Given the description of an element on the screen output the (x, y) to click on. 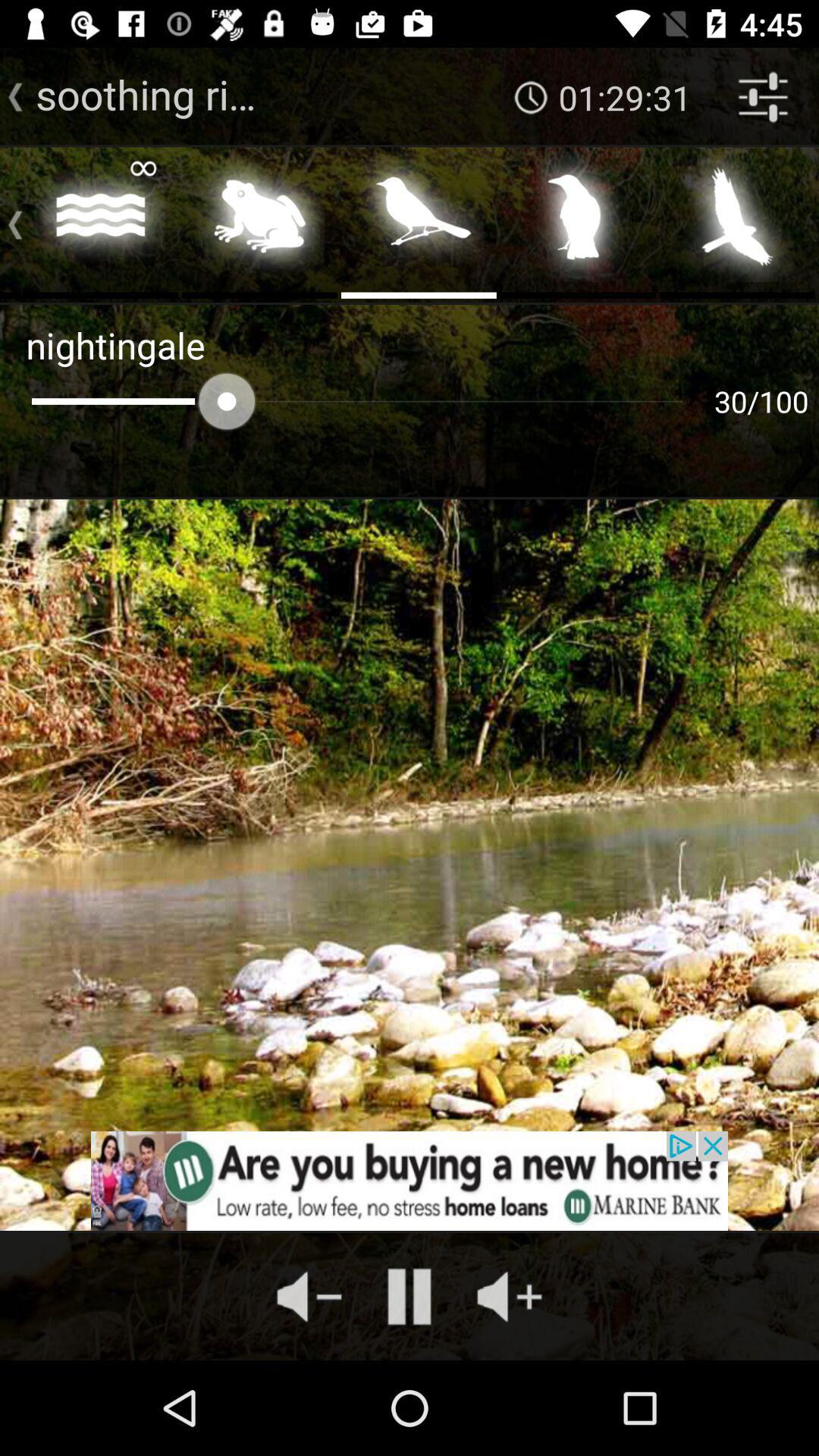
click on the volume decrees button (309, 1296)
select the second image above nightingale (259, 221)
click the volume up option beside pause icon (509, 1296)
select the option beside the timer on top right (763, 97)
click on the pause symbol button between volume symbols (409, 1296)
